Given the description of an element on the screen output the (x, y) to click on. 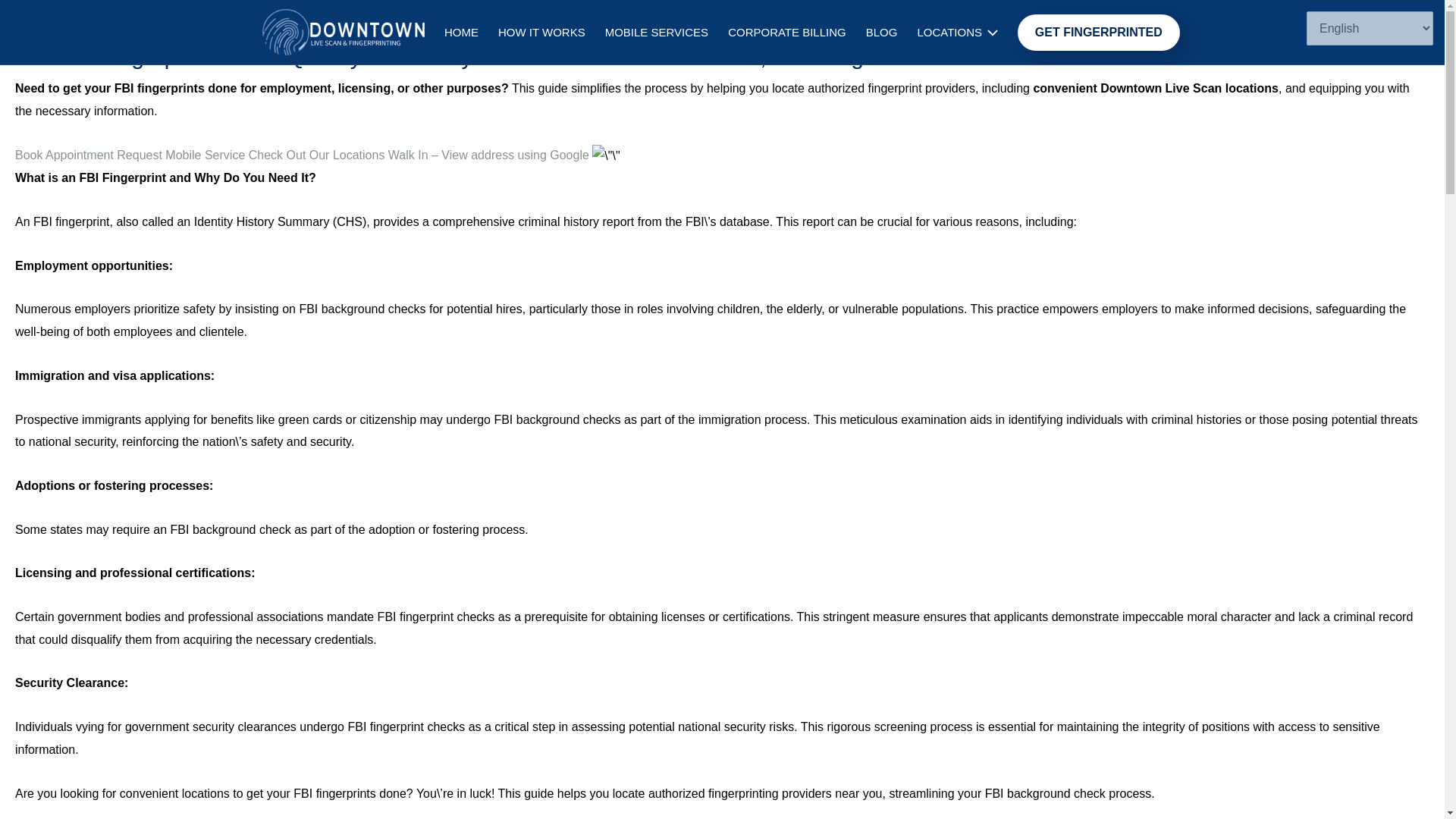
LOCATIONS (957, 32)
GET FINGERPRINTED (119, 22)
CORPORATE BILLING (786, 32)
HOME (460, 32)
BLOG (881, 32)
MOBILE SERVICES (656, 32)
Request Mobile Service (181, 154)
Check Out Our Locations (318, 154)
GET FINGERPRINTED (1098, 31)
Book Appointment (65, 154)
HOW IT WORKS (541, 32)
